Given the description of an element on the screen output the (x, y) to click on. 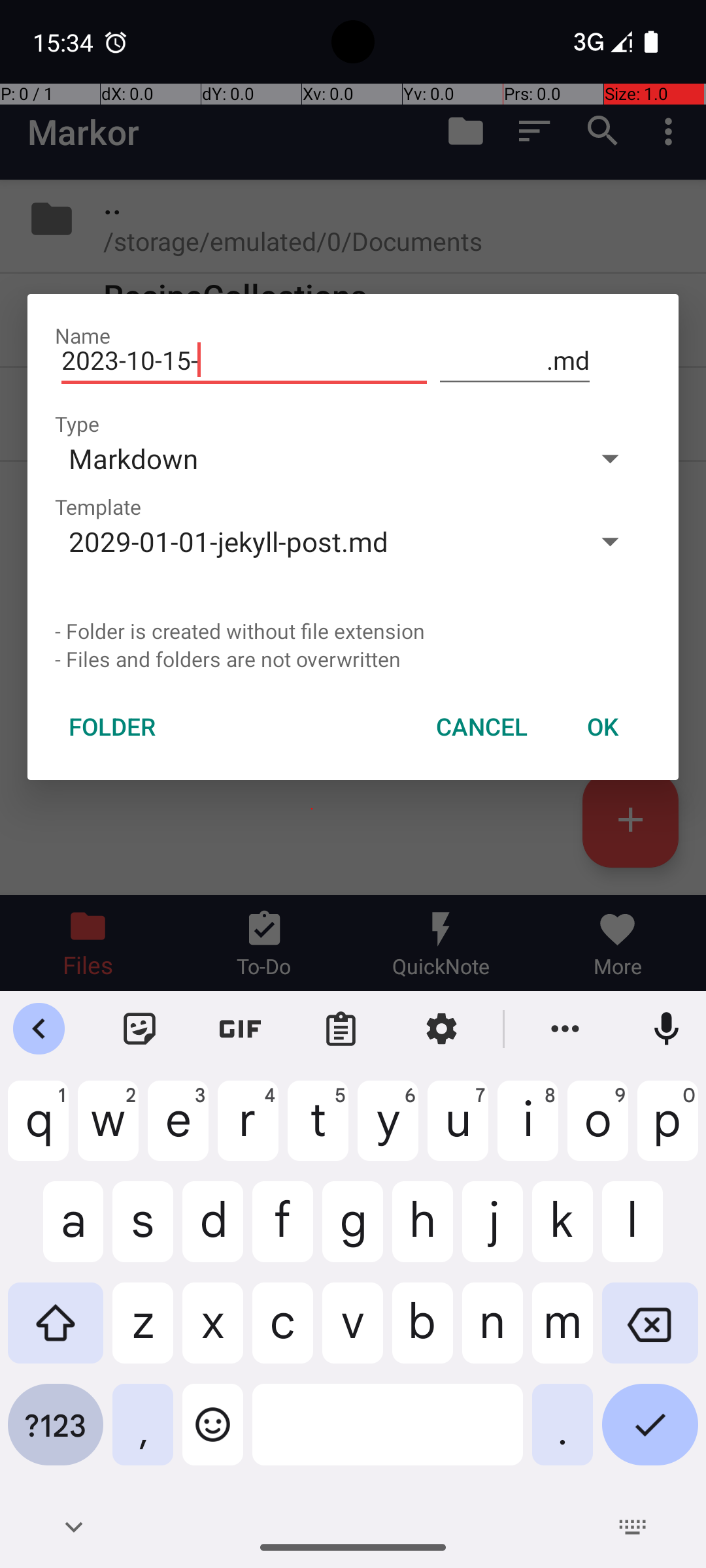
2023-10-15- Element type: android.widget.EditText (243, 360)
